Given the description of an element on the screen output the (x, y) to click on. 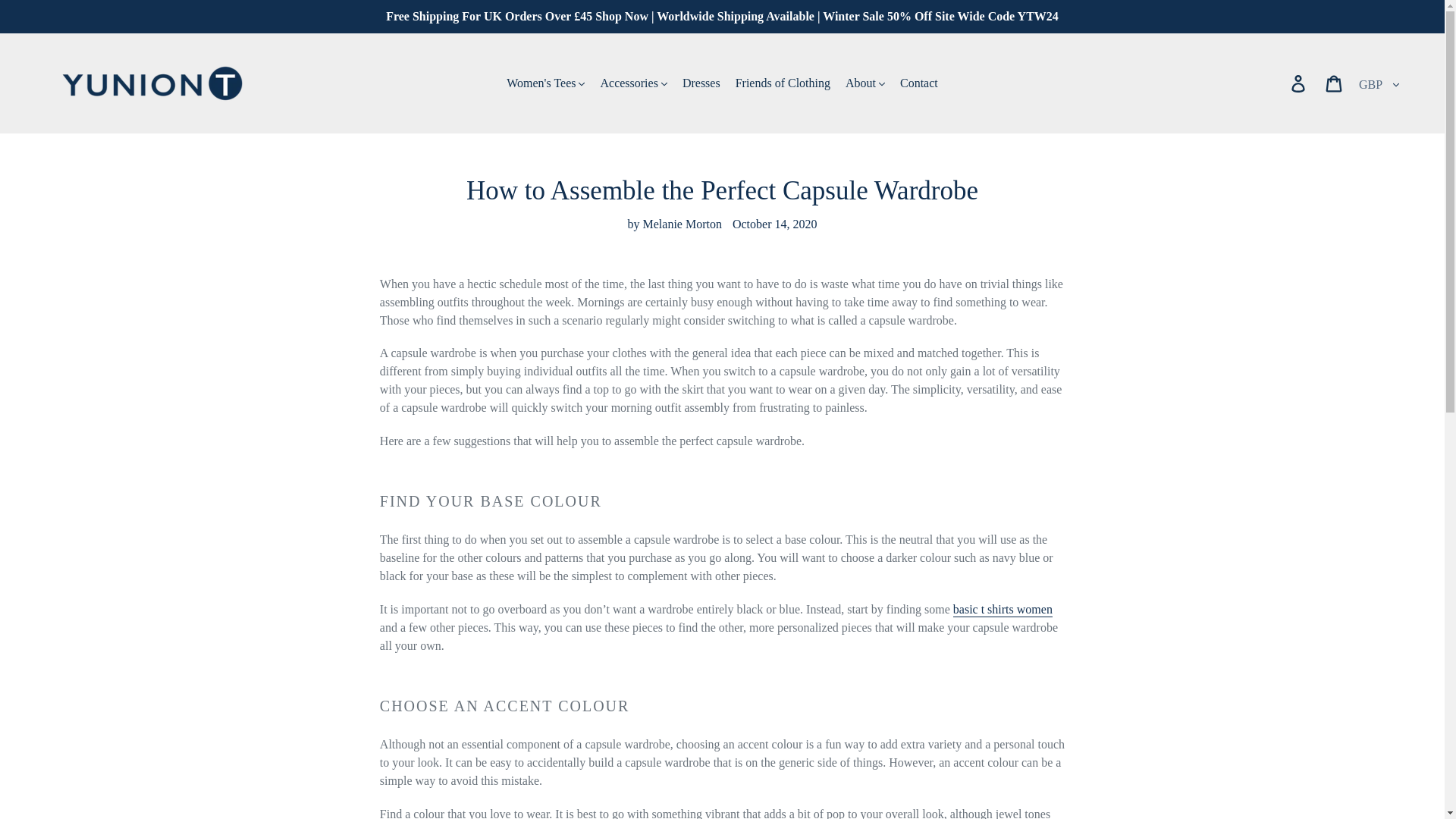
Cart (1334, 83)
Contact (918, 83)
Log in (1299, 83)
Dresses (701, 83)
Friends of Clothing (782, 83)
